Given the description of an element on the screen output the (x, y) to click on. 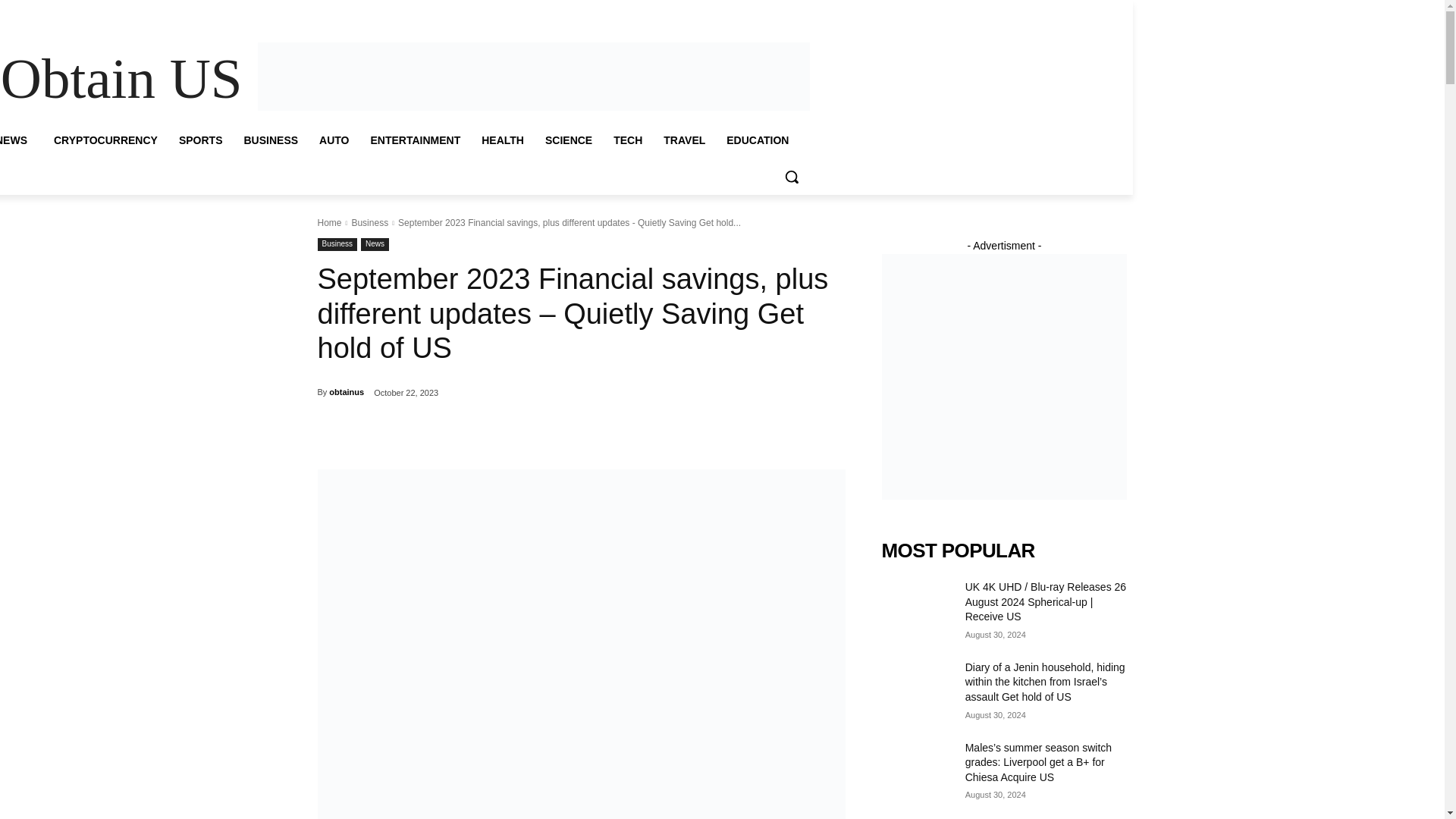
Health (641, 10)
Sports (466, 10)
View all posts in Business (369, 222)
Science (680, 10)
Business (507, 10)
Obtain US (121, 78)
Education (791, 10)
Cryptocurrency (413, 10)
NEWS (21, 140)
Travel (749, 10)
